Given the description of an element on the screen output the (x, y) to click on. 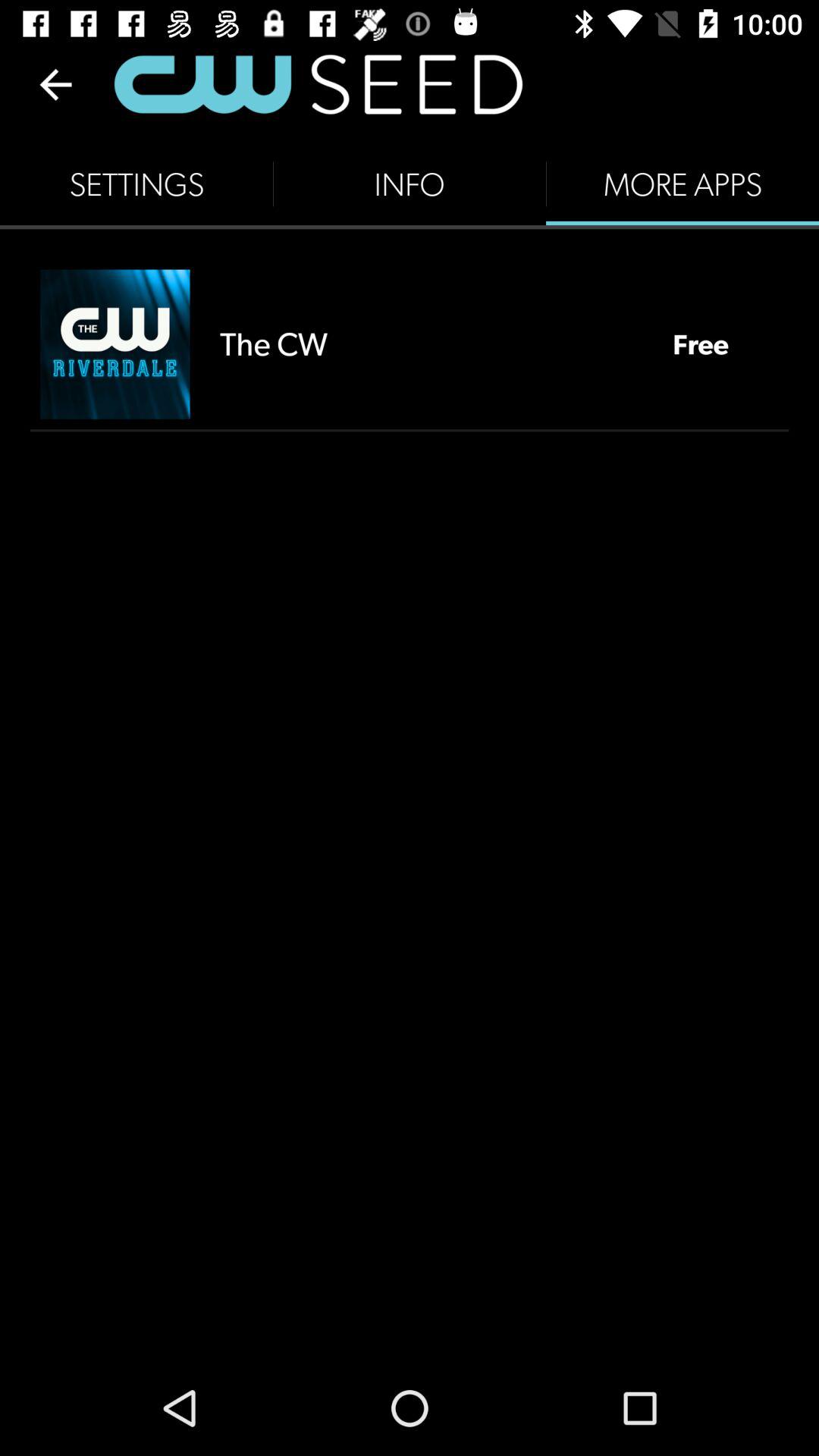
open the item above settings (55, 84)
